Given the description of an element on the screen output the (x, y) to click on. 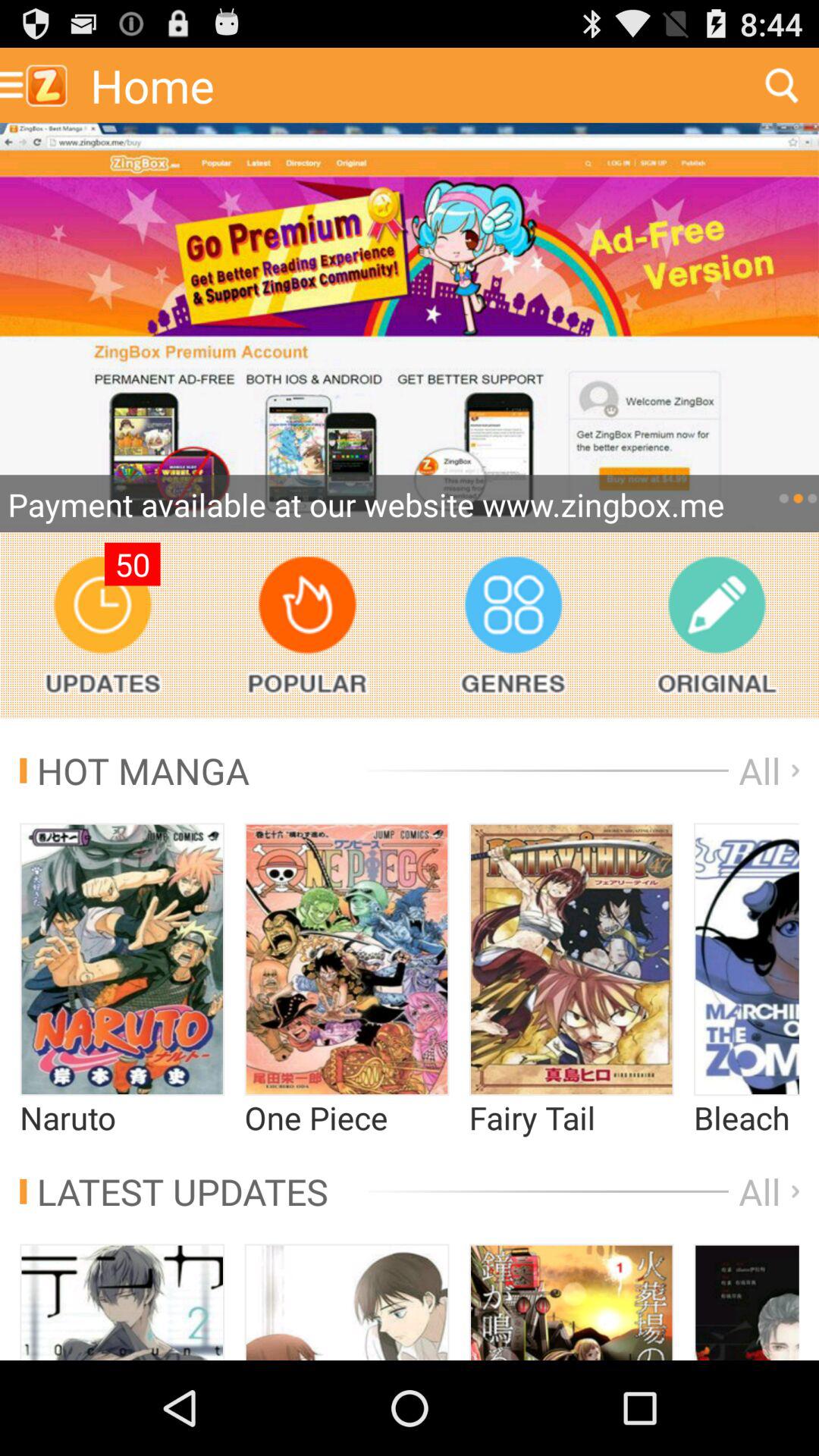
select this option (746, 958)
